Given the description of an element on the screen output the (x, y) to click on. 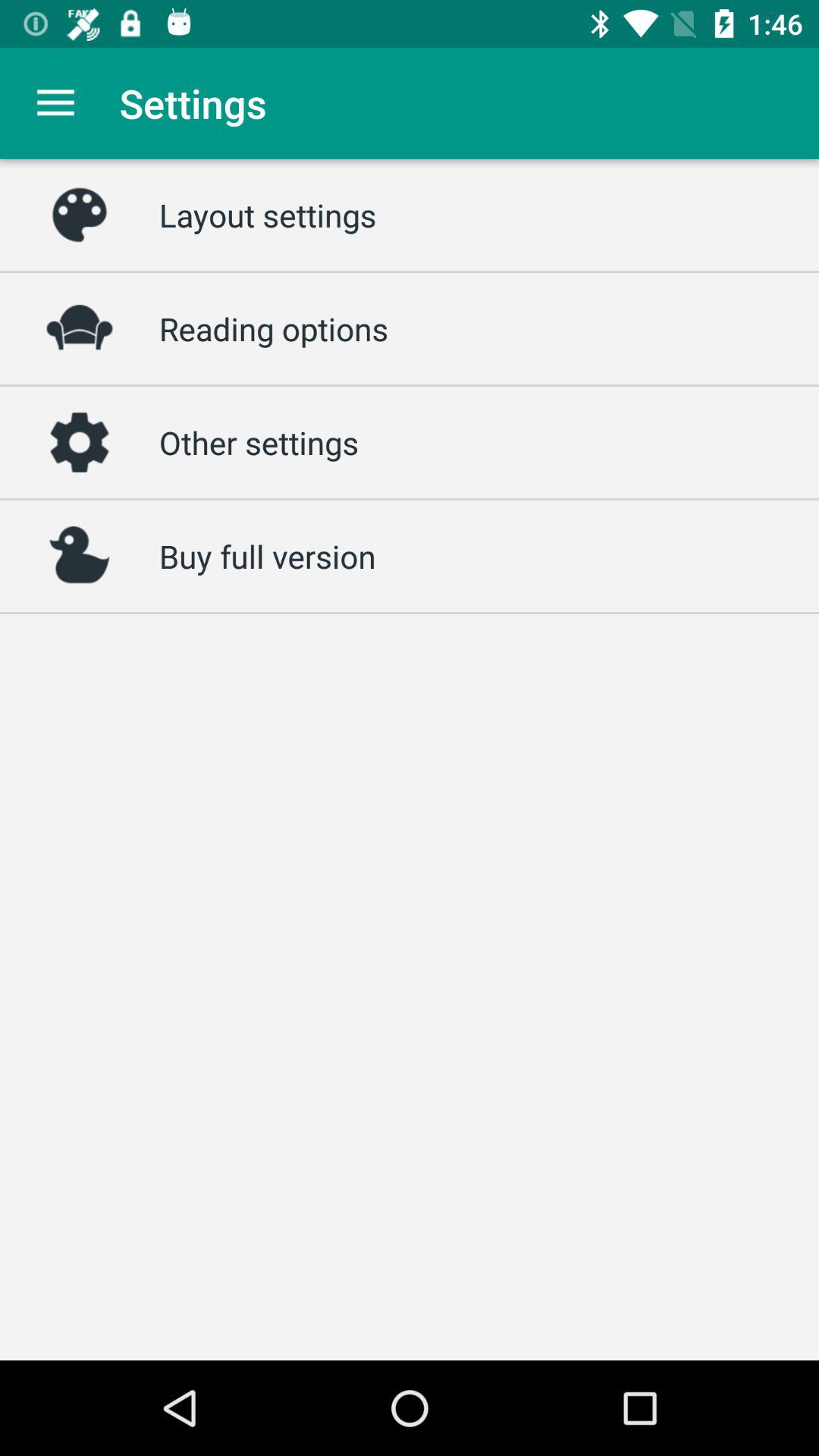
press the layout settings item (267, 214)
